Given the description of an element on the screen output the (x, y) to click on. 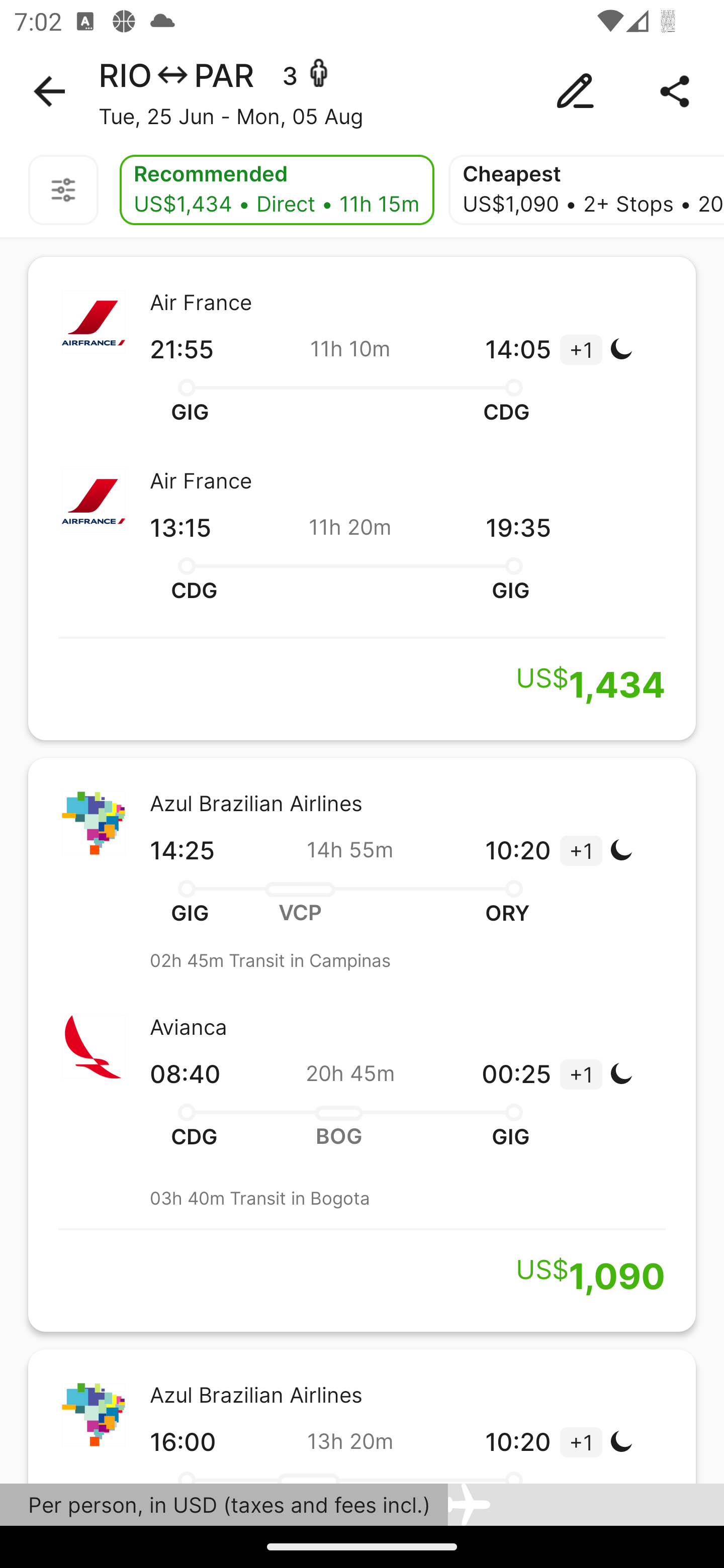
RIO PAR   3 - Tue, 25 Jun - Mon, 05 Aug (361, 91)
Recommended  US$1,434 • Direct • 11h 15m (276, 190)
Cheapest US$1,090 • 2+ Stops • 20h 17m (586, 190)
Azul Brazilian Airlines 16:00 13h 20m 10:20 +1 (361, 1416)
